Given the description of an element on the screen output the (x, y) to click on. 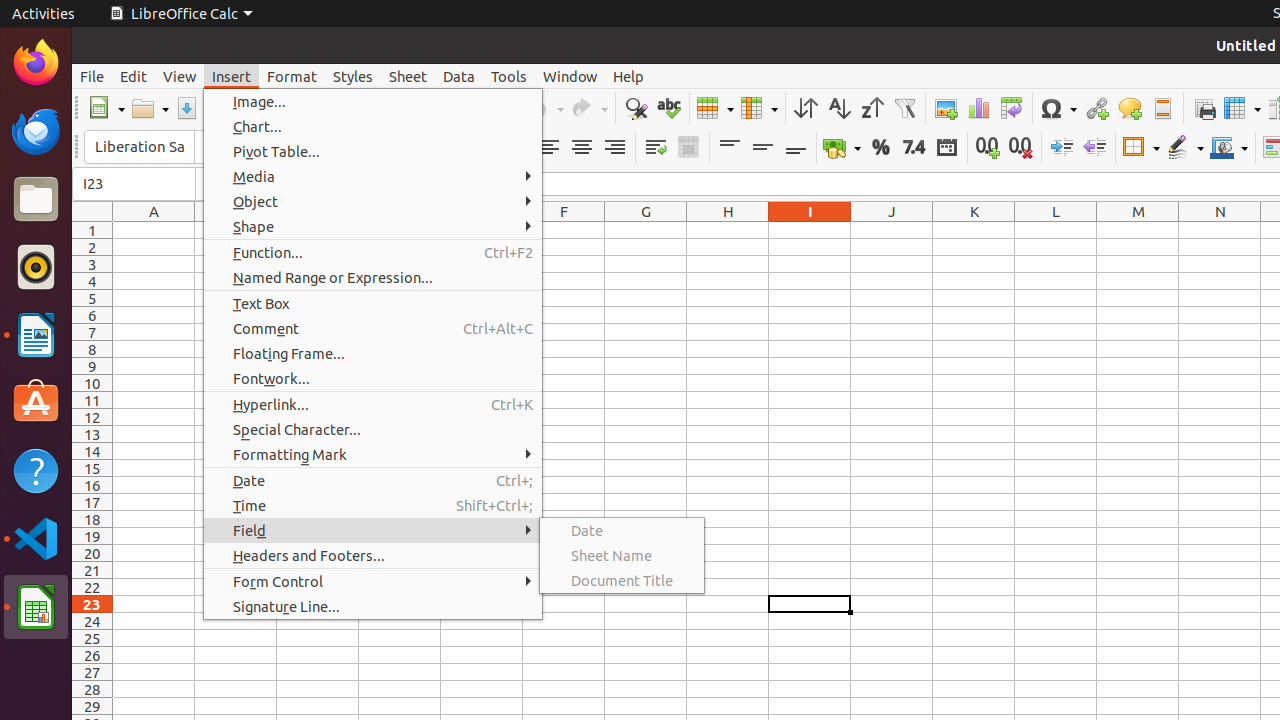
Image... Element type: menu-item (373, 101)
Named Range or Expression... Element type: menu-item (373, 277)
Field Element type: menu (373, 530)
J1 Element type: table-cell (892, 230)
Currency Element type: push-button (842, 147)
